Given the description of an element on the screen output the (x, y) to click on. 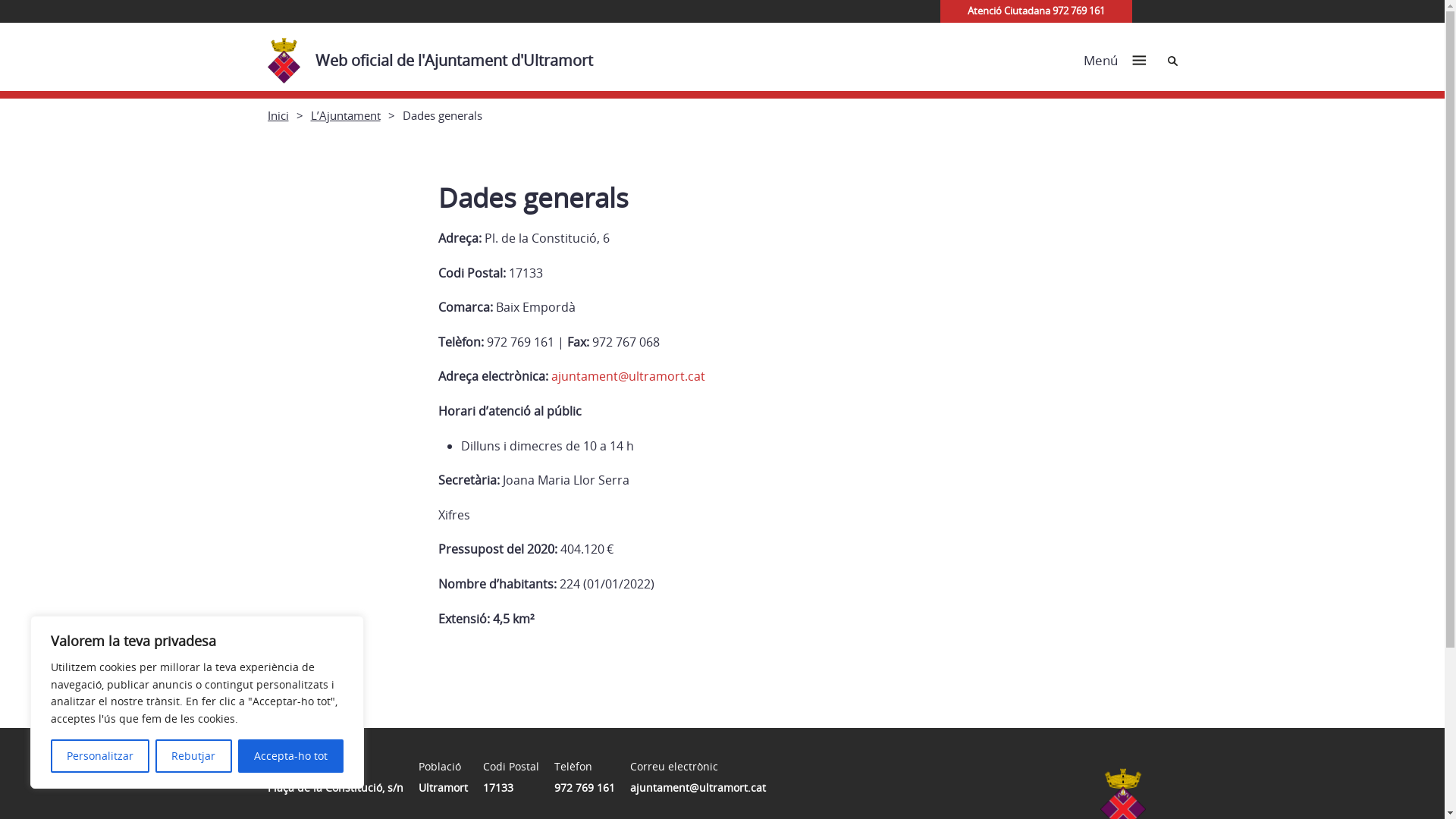
Rebutjar Element type: text (193, 755)
Web oficial de l'Ajuntament d'Ultramort Element type: text (436, 56)
972 769 161 Element type: text (583, 787)
ajuntament@ultramort.cat Element type: text (697, 787)
Inici Element type: text (277, 114)
ajuntament@ultramort.cat Element type: text (627, 375)
Personalitzar Element type: text (99, 755)
Cerca Element type: text (1172, 60)
Accepta-ho tot Element type: text (290, 755)
